Given the description of an element on the screen output the (x, y) to click on. 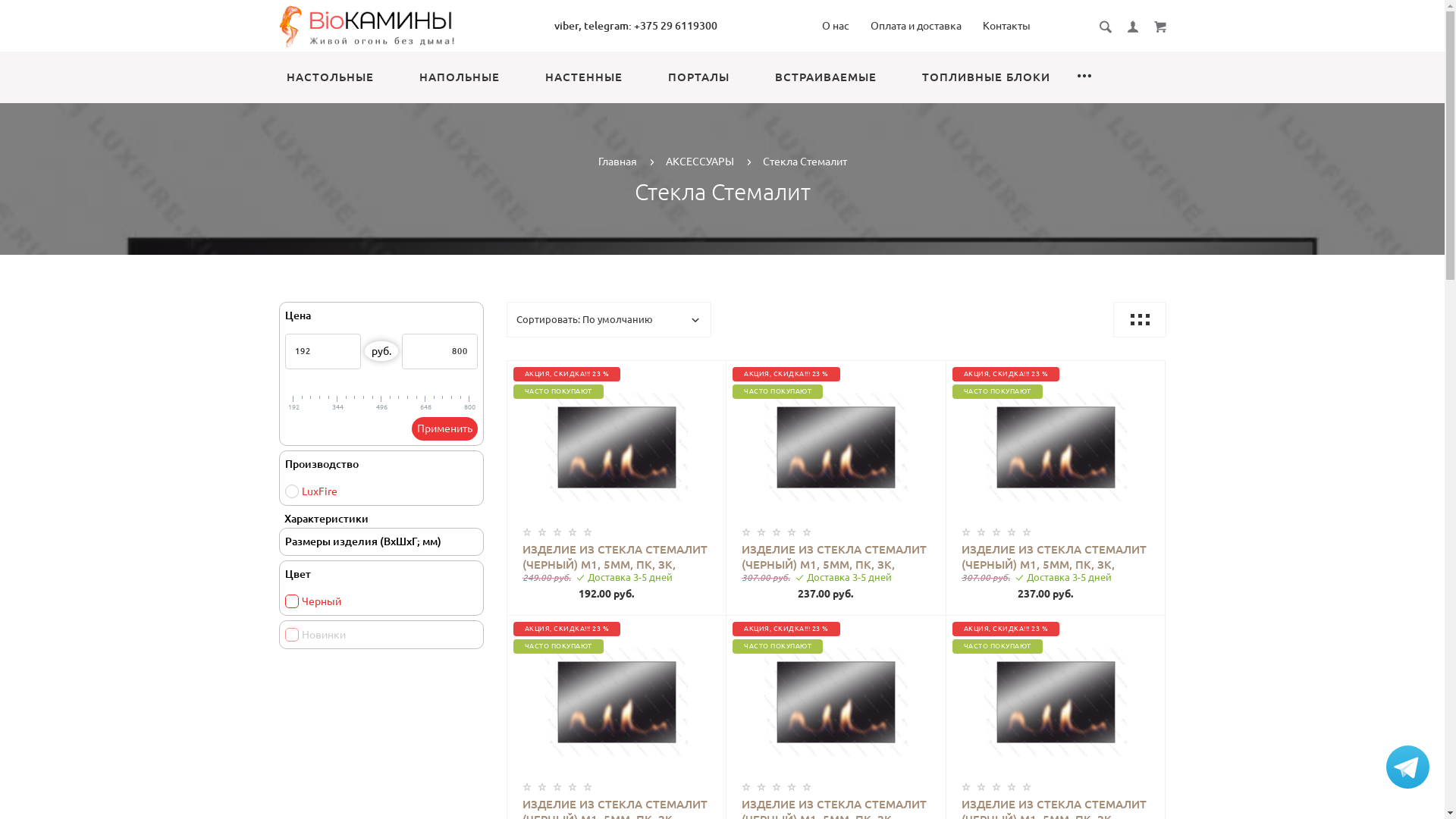
LuxFire Element type: text (311, 490)
viber, telegram: +375 29 6119300 Element type: text (635, 25)
